Given the description of an element on the screen output the (x, y) to click on. 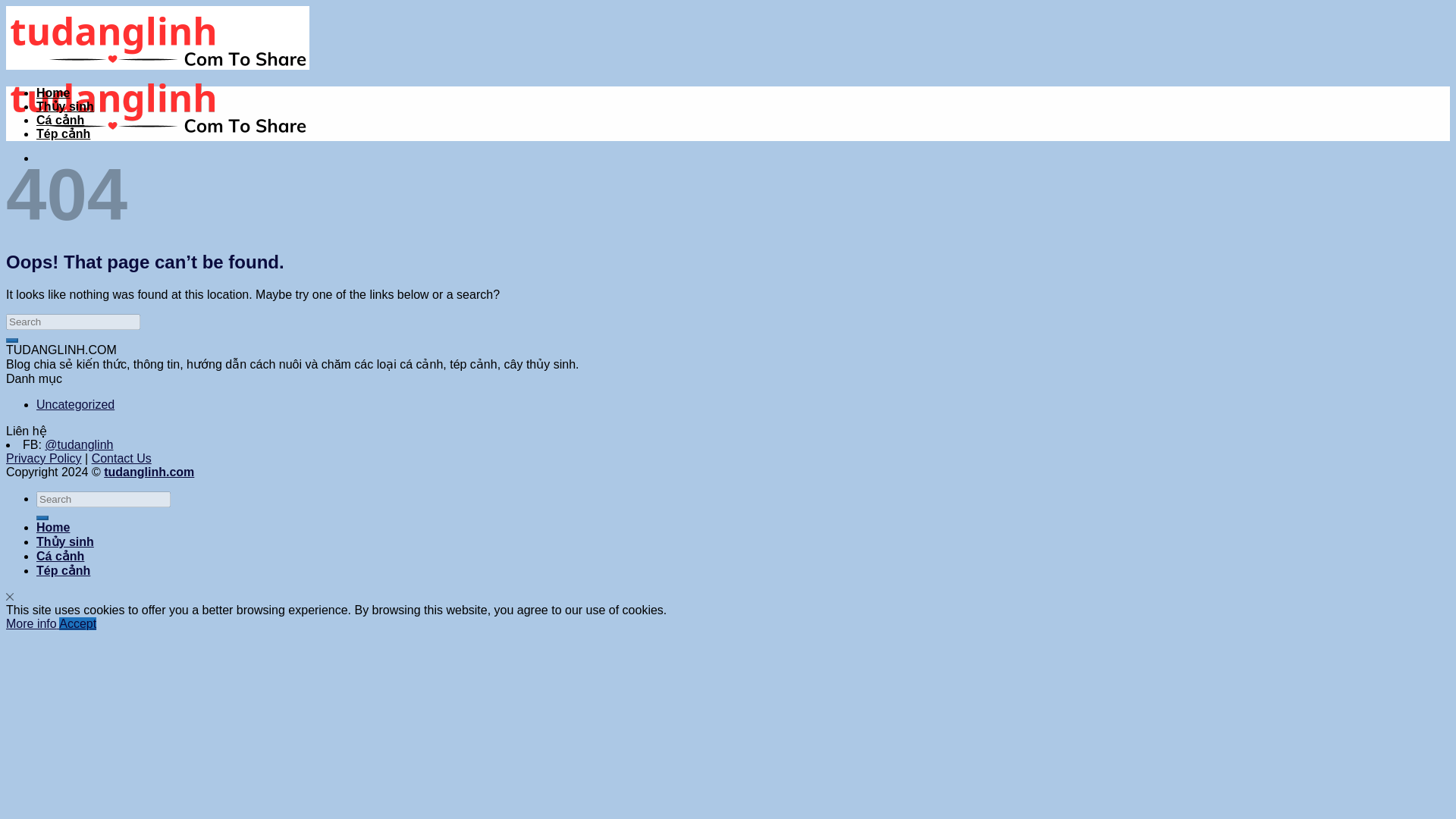
Contact Us (121, 458)
Privacy Policy (43, 458)
Contact Us (121, 458)
Home (52, 92)
Uncategorized (75, 404)
tudanglinh.com (148, 472)
Home (52, 526)
tudanglinh.com (148, 472)
Privacy Policy (43, 458)
